Given the description of an element on the screen output the (x, y) to click on. 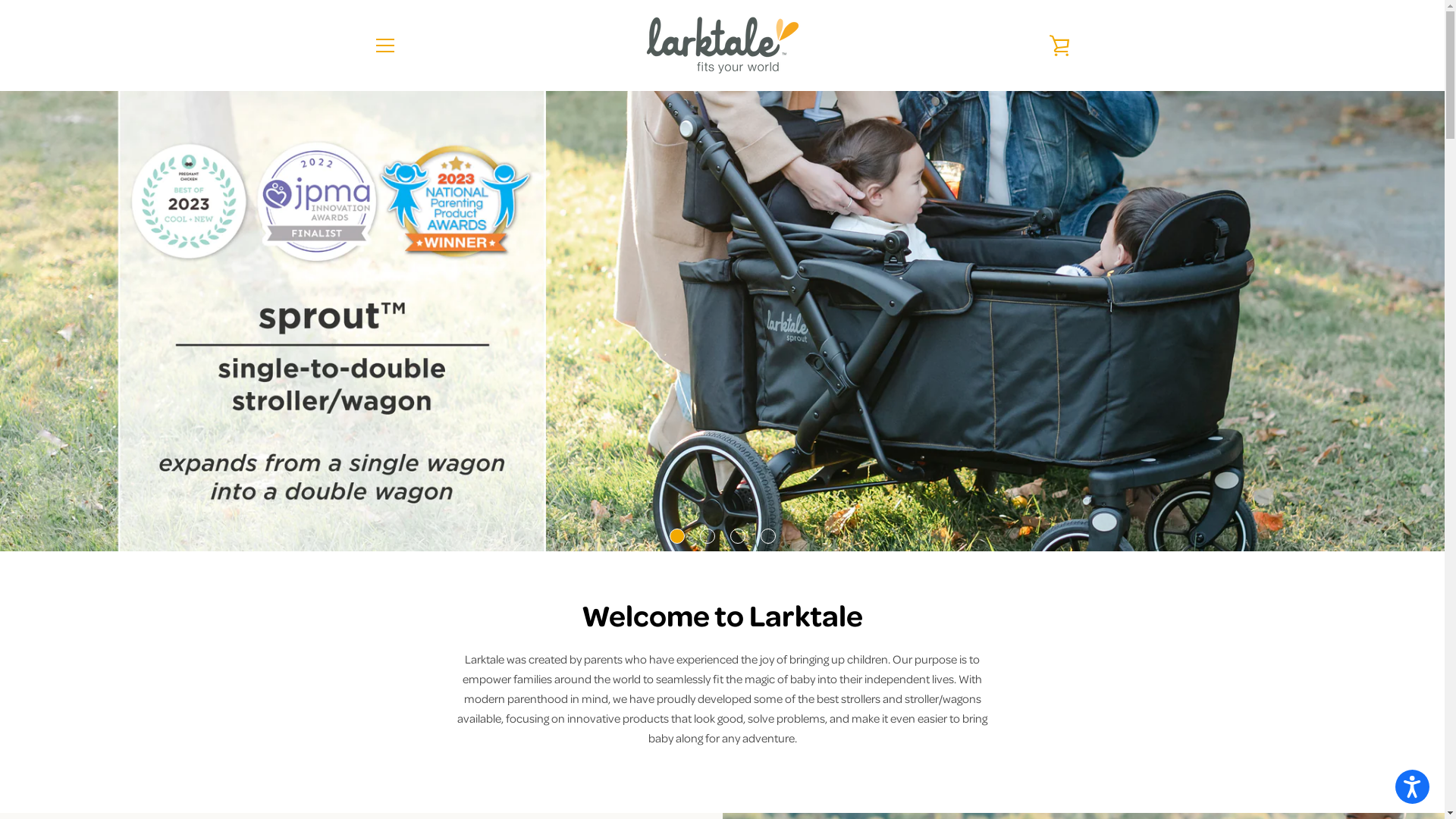
VIEW CART Element type: text (1059, 45)
MENU Element type: text (384, 45)
Skip to content Element type: text (0, 0)
